Given the description of an element on the screen output the (x, y) to click on. 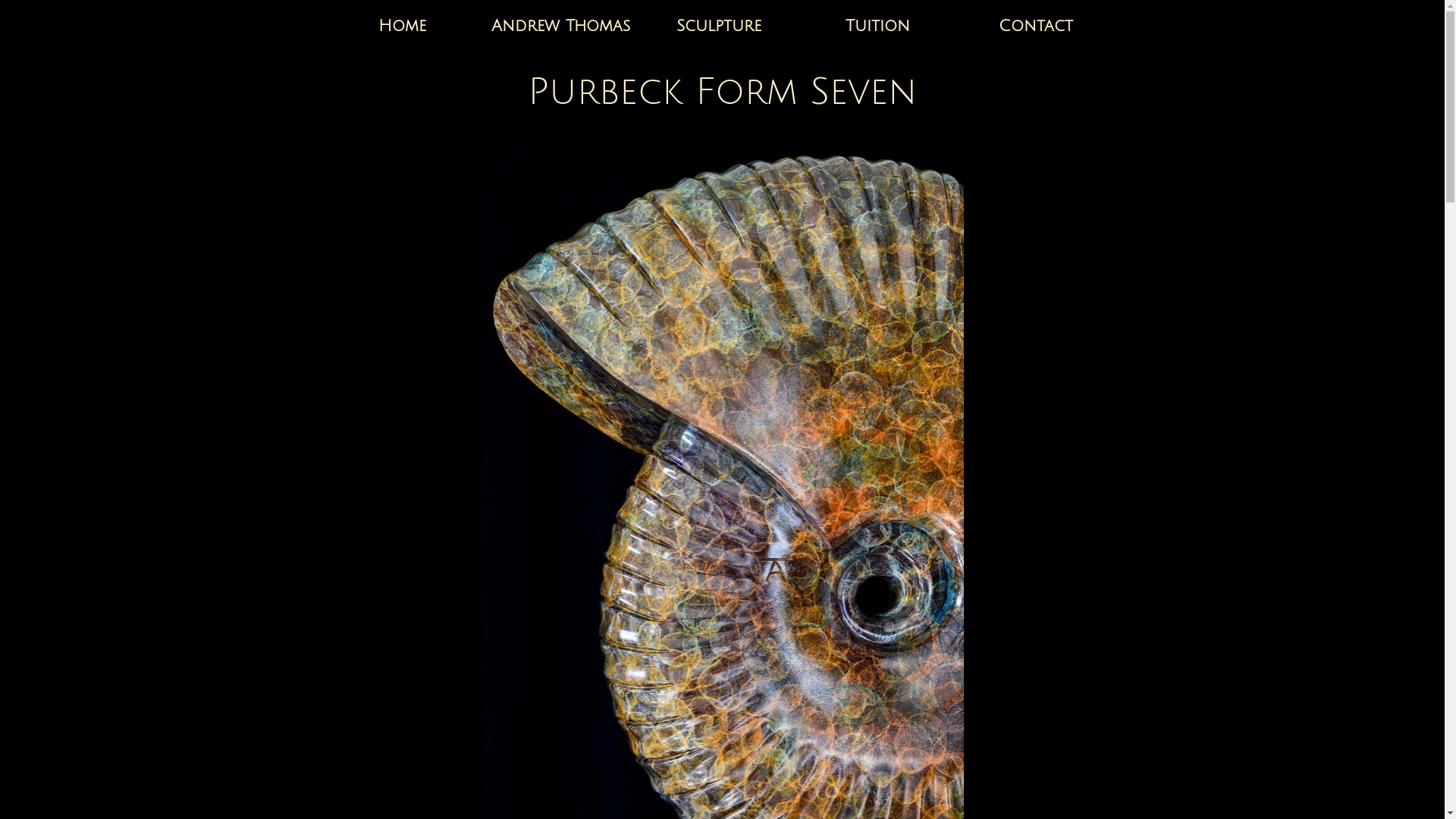
Tuition Element type: text (877, 25)
Sculpture Element type: text (718, 25)
Contact Element type: text (1035, 25)
Home Element type: text (401, 25)
Andrew Thomas Element type: text (560, 25)
